Given the description of an element on the screen output the (x, y) to click on. 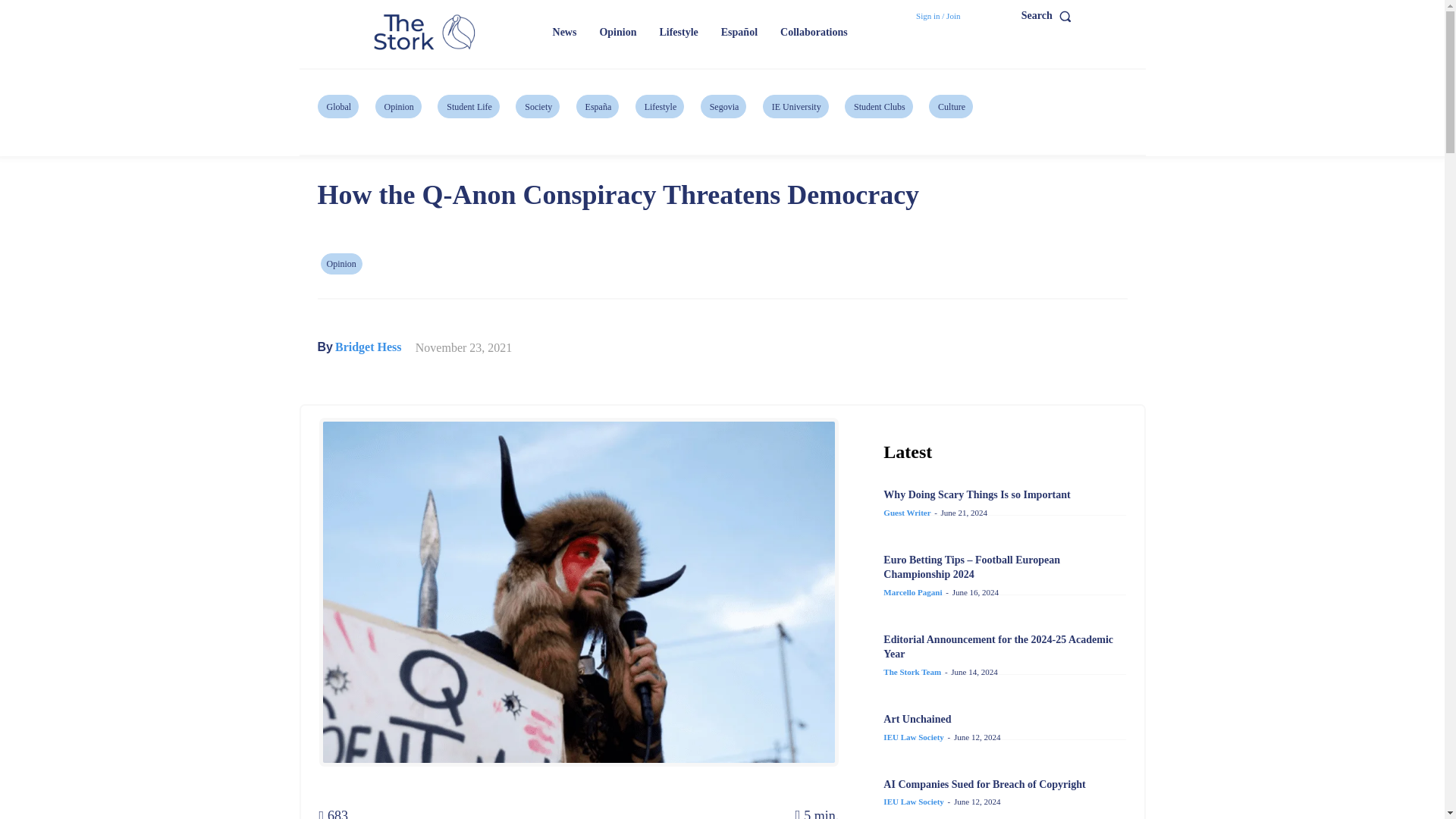
News (564, 32)
Bridget Hess (367, 346)
Lifestyle (677, 32)
Search (1050, 15)
Opinion (398, 106)
Society (537, 106)
Lifestyle (659, 106)
Collaborations (814, 32)
IE University (795, 106)
Student Clubs (878, 106)
IE University's student newspaper.  (426, 33)
Segovia (723, 106)
Opinion (617, 32)
Culture (950, 106)
Global (337, 106)
